Given the description of an element on the screen output the (x, y) to click on. 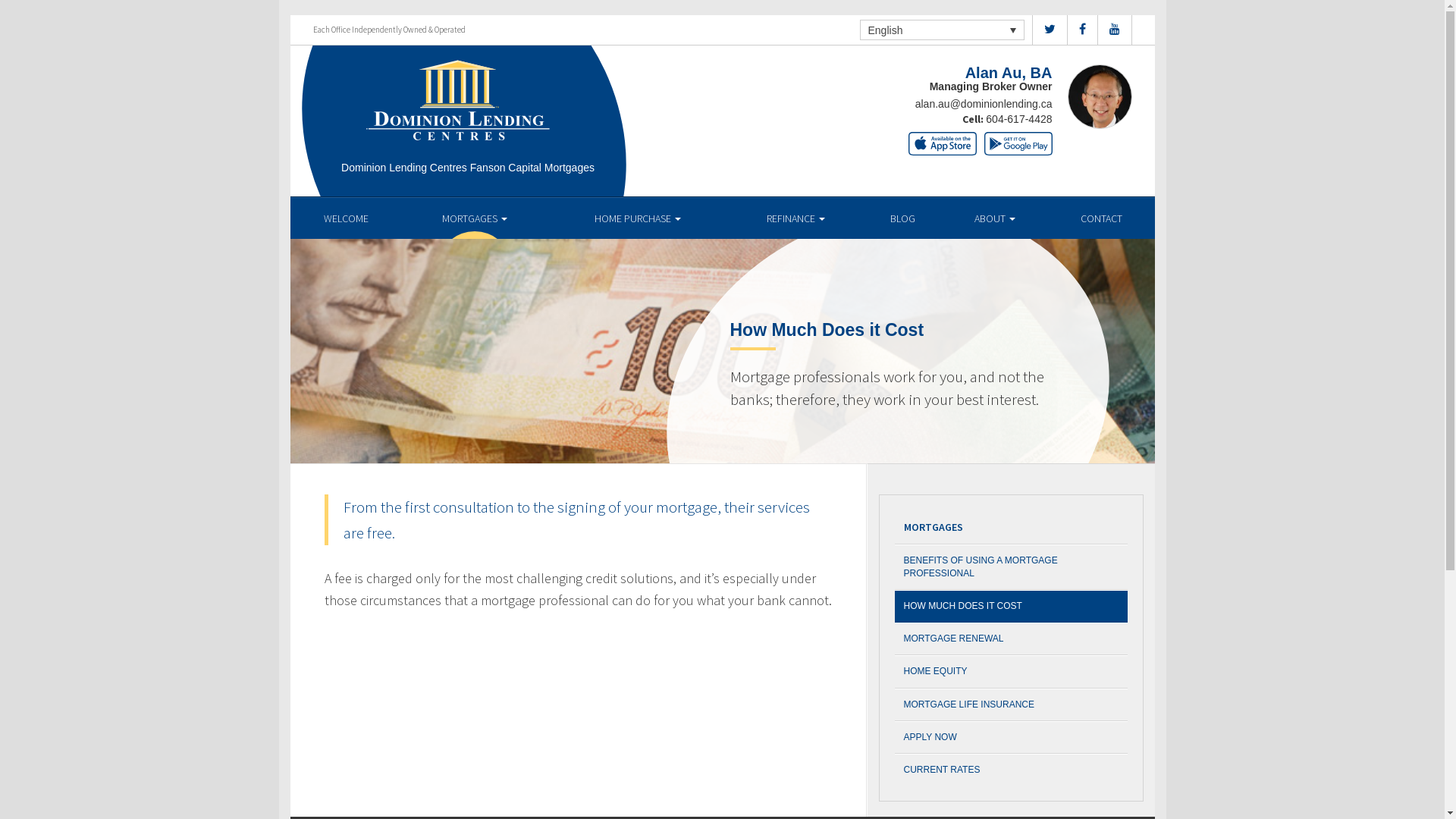
WELCOME Element type: text (345, 217)
CONTACT Element type: text (1101, 217)
CURRENT RATES Element type: text (1010, 769)
ABOUT Element type: text (994, 217)
BLOG Element type: text (901, 217)
HOME EQUITY Element type: text (1010, 671)
MORTGAGE LIFE INSURANCE Element type: text (1010, 704)
MORTGAGES Element type: text (1010, 527)
BENEFITS OF USING A MORTGAGE PROFESSIONAL Element type: text (1010, 566)
REFINANCE Element type: text (795, 217)
MORTGAGES Element type: text (474, 217)
APPLY NOW Element type: text (1010, 737)
HOW MUCH DOES IT COST Element type: text (1010, 605)
604-617-4428 Element type: text (1018, 118)
MORTGAGE RENEWAL Element type: text (1010, 638)
alan.au@dominionlending.ca Element type: text (983, 103)
HOME PURCHASE Element type: text (637, 217)
English Element type: text (941, 29)
